Given the description of an element on the screen output the (x, y) to click on. 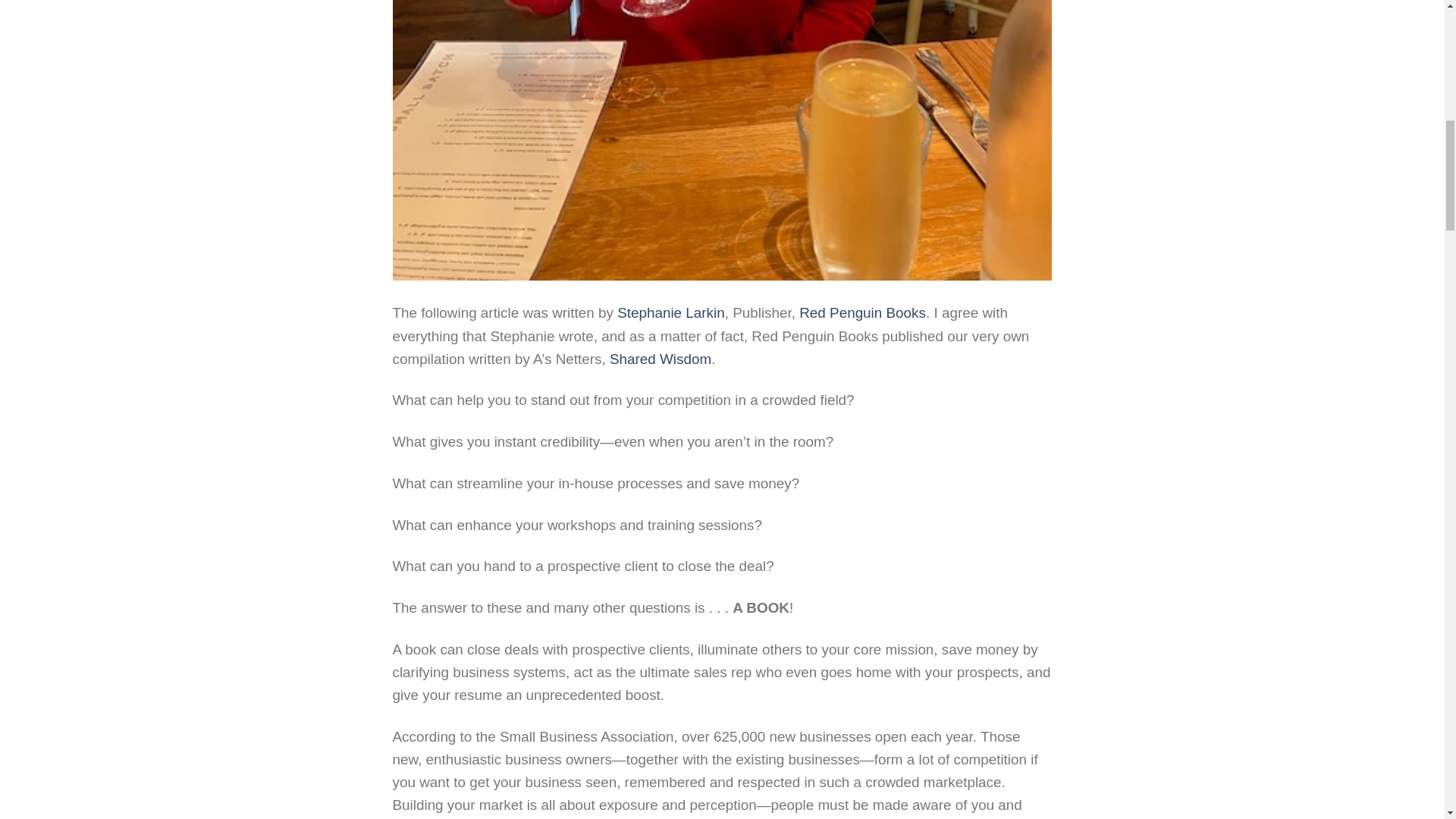
Stephanie Larkin (671, 312)
Red Penguin Books (862, 312)
Shared Wisdom (660, 358)
